Given the description of an element on the screen output the (x, y) to click on. 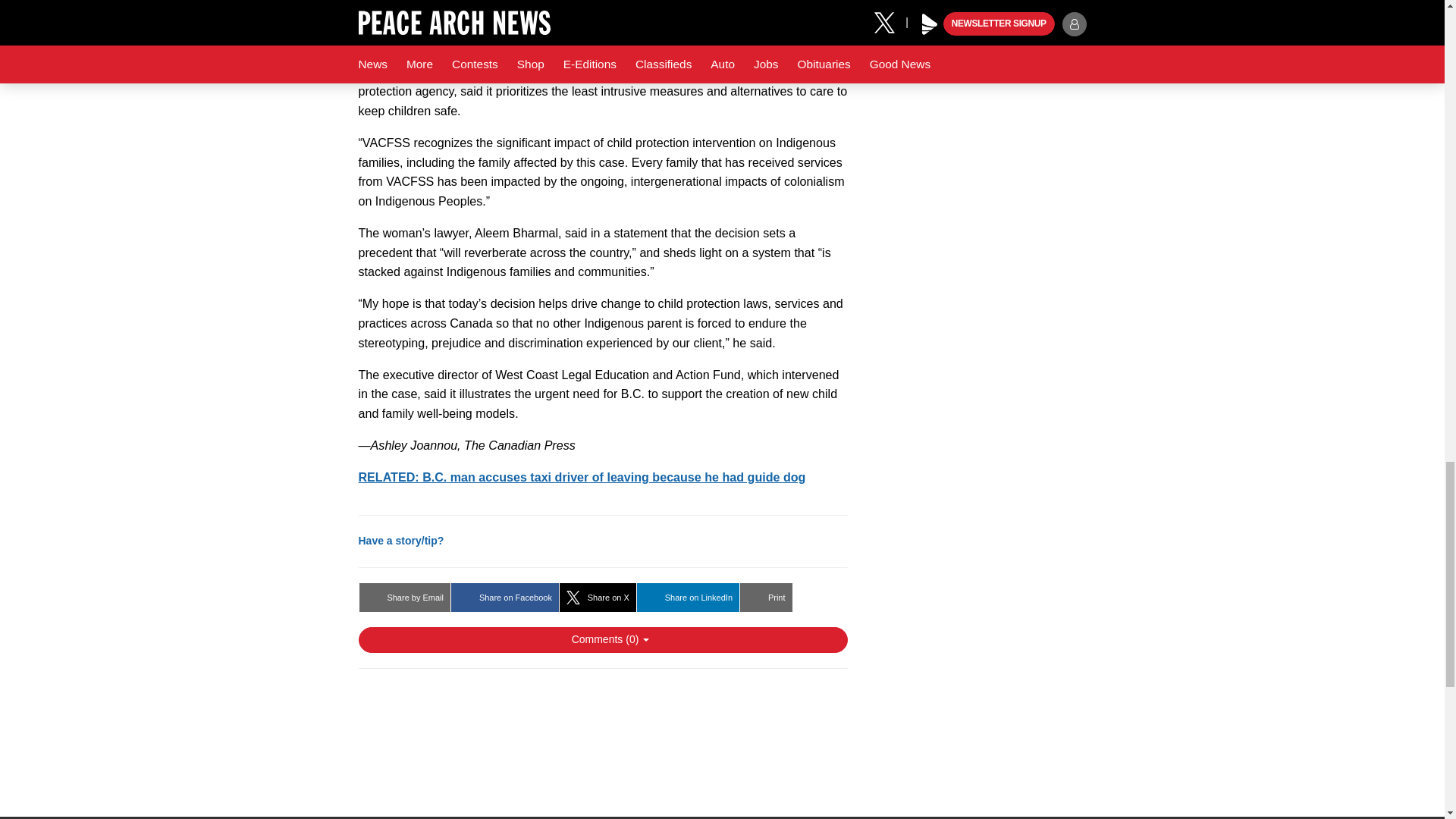
related story (581, 477)
Show Comments (602, 639)
